Given the description of an element on the screen output the (x, y) to click on. 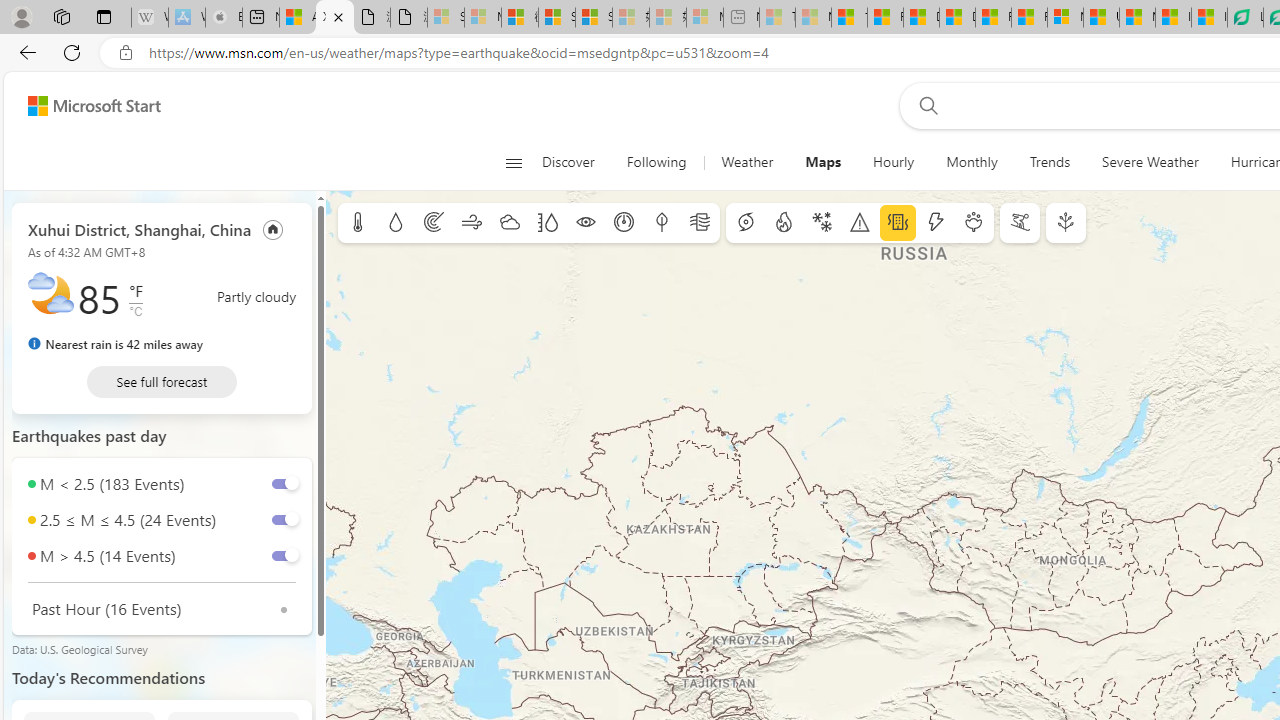
See full forecast (161, 381)
Class: button-glyph (513, 162)
Clouds (509, 223)
Monthly (971, 162)
Precipitation (395, 223)
Radar (433, 223)
Skip to footer (82, 105)
Wind (472, 223)
Microsoft account | Account Checkup - Sleeping (705, 17)
Open navigation menu (513, 162)
LendingTree - Compare Lenders (1245, 17)
Top Stories - MSN - Sleeping (777, 17)
